Given the description of an element on the screen output the (x, y) to click on. 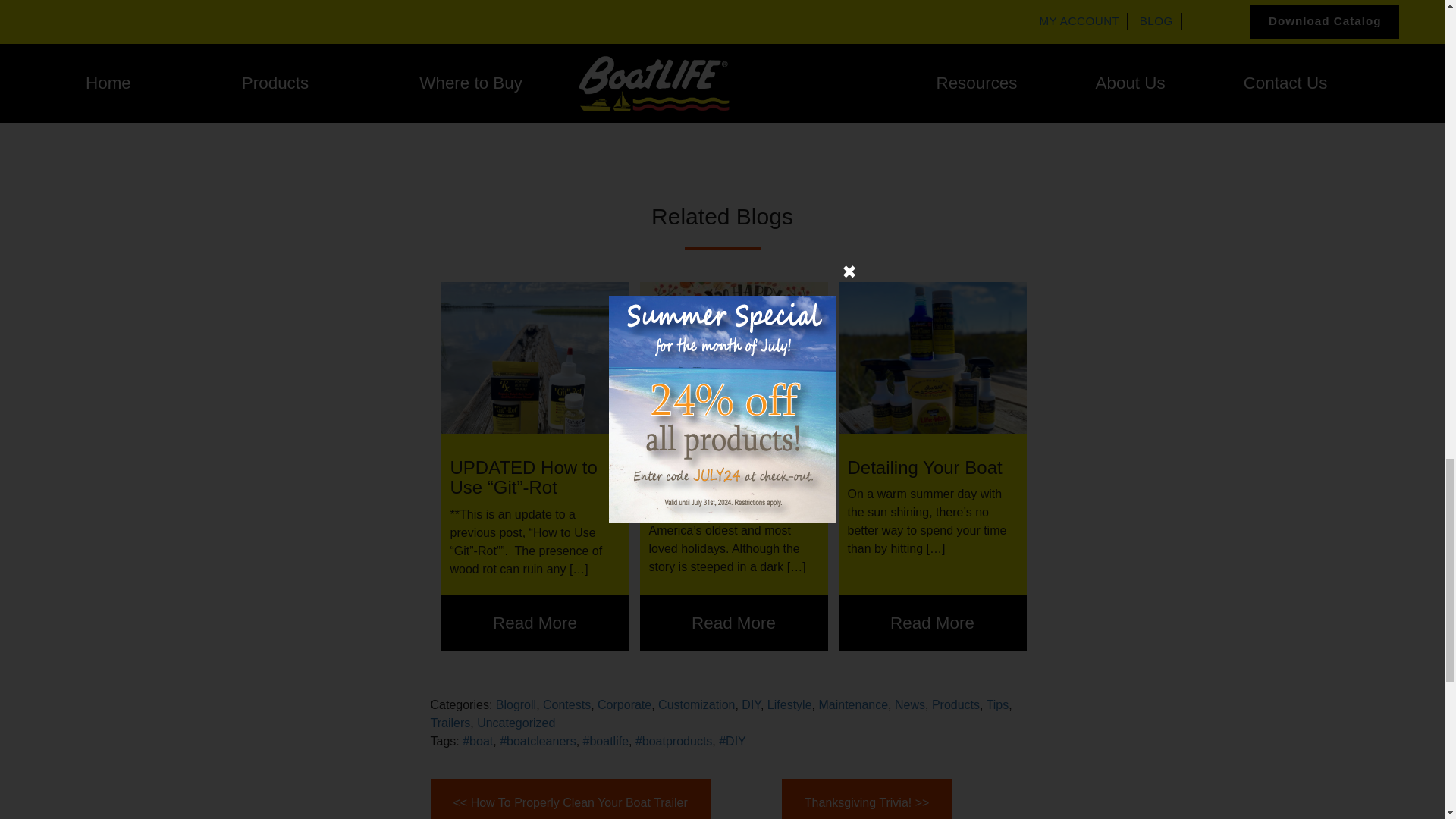
Click to share on Twitter (278, 103)
Click to share on Facebook (309, 103)
